Given the description of an element on the screen output the (x, y) to click on. 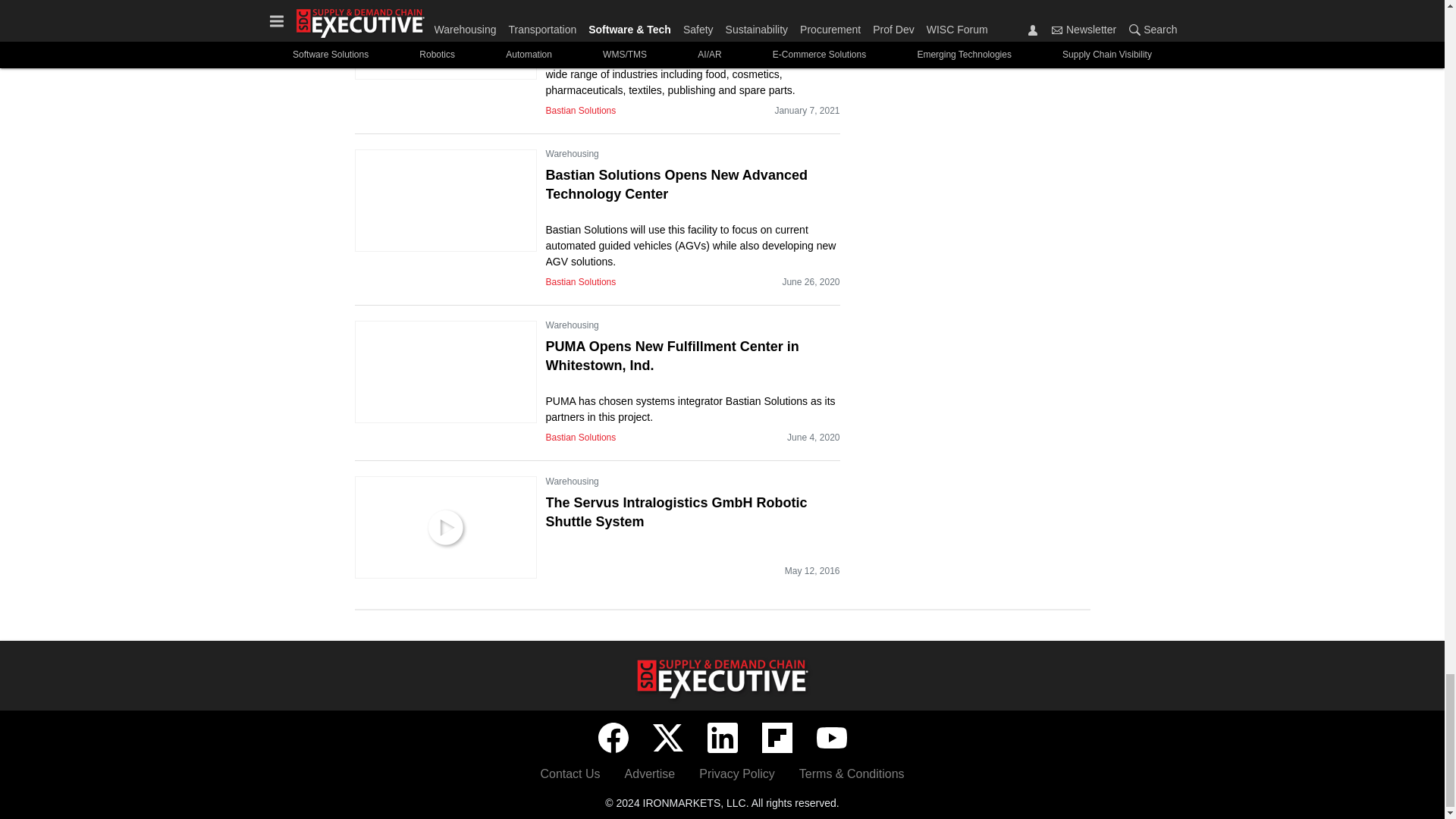
Facebook icon (611, 737)
Twitter X icon (667, 737)
YouTube icon (830, 737)
LinkedIn icon (721, 737)
Flipboard icon (776, 737)
